Given the description of an element on the screen output the (x, y) to click on. 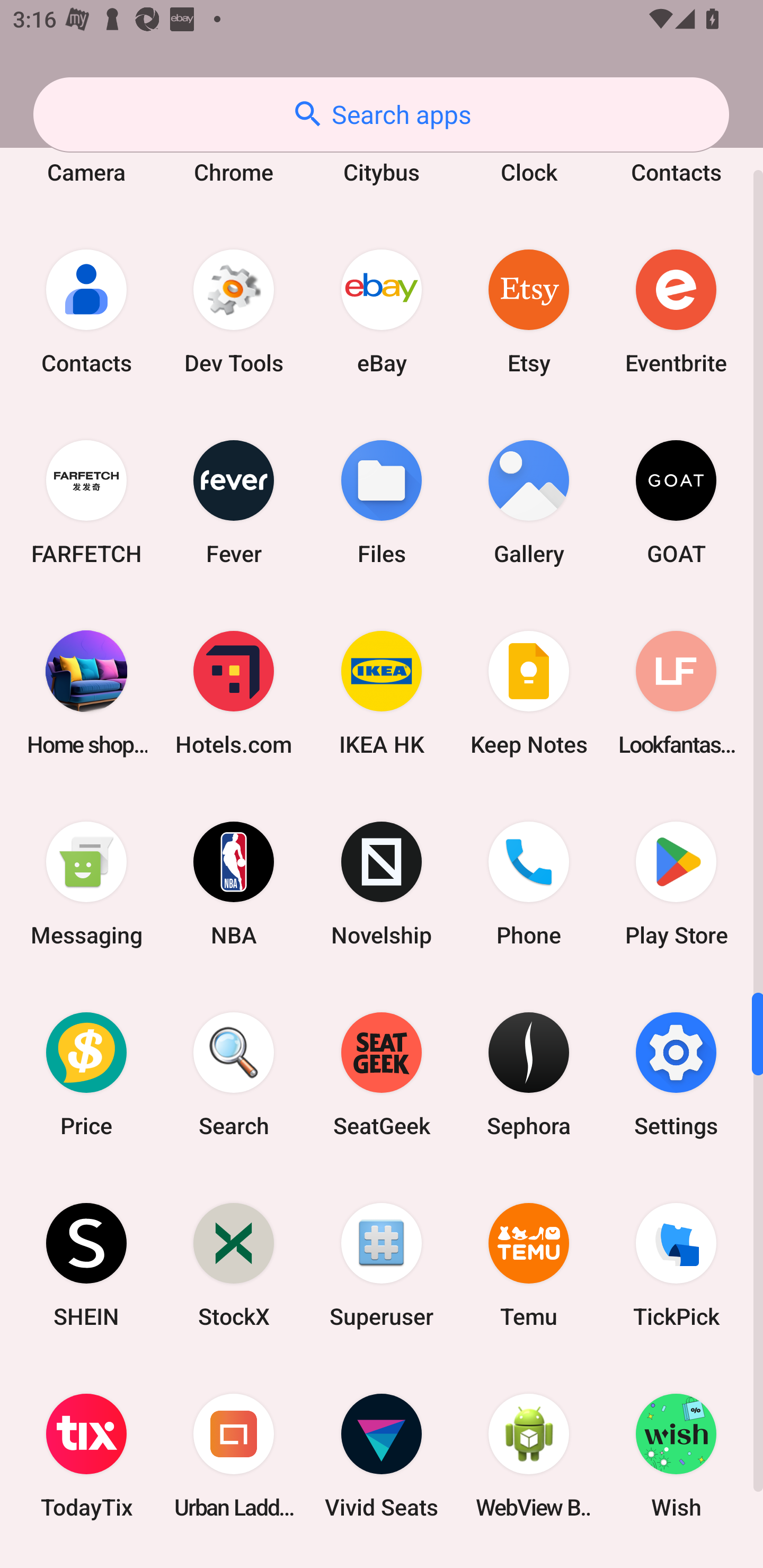
  Search apps (381, 114)
Contacts (86, 311)
Dev Tools (233, 311)
eBay (381, 311)
Etsy (528, 311)
Eventbrite (676, 311)
FARFETCH (86, 501)
Fever (233, 501)
Files (381, 501)
Gallery (528, 501)
GOAT (676, 501)
Home shopping (86, 692)
Hotels.com (233, 692)
IKEA HK (381, 692)
Keep Notes (528, 692)
Lookfantastic (676, 692)
Messaging (86, 883)
NBA (233, 883)
Novelship (381, 883)
Phone (528, 883)
Play Store (676, 883)
Price (86, 1073)
Search (233, 1073)
SeatGeek (381, 1073)
Sephora (528, 1073)
Settings (676, 1073)
SHEIN (86, 1265)
StockX (233, 1265)
Superuser (381, 1265)
Temu (528, 1265)
TickPick (676, 1265)
TodayTix (86, 1455)
Urban Ladder (233, 1455)
Vivid Seats (381, 1455)
WebView Browser Tester (528, 1455)
Wish (676, 1455)
